Given the description of an element on the screen output the (x, y) to click on. 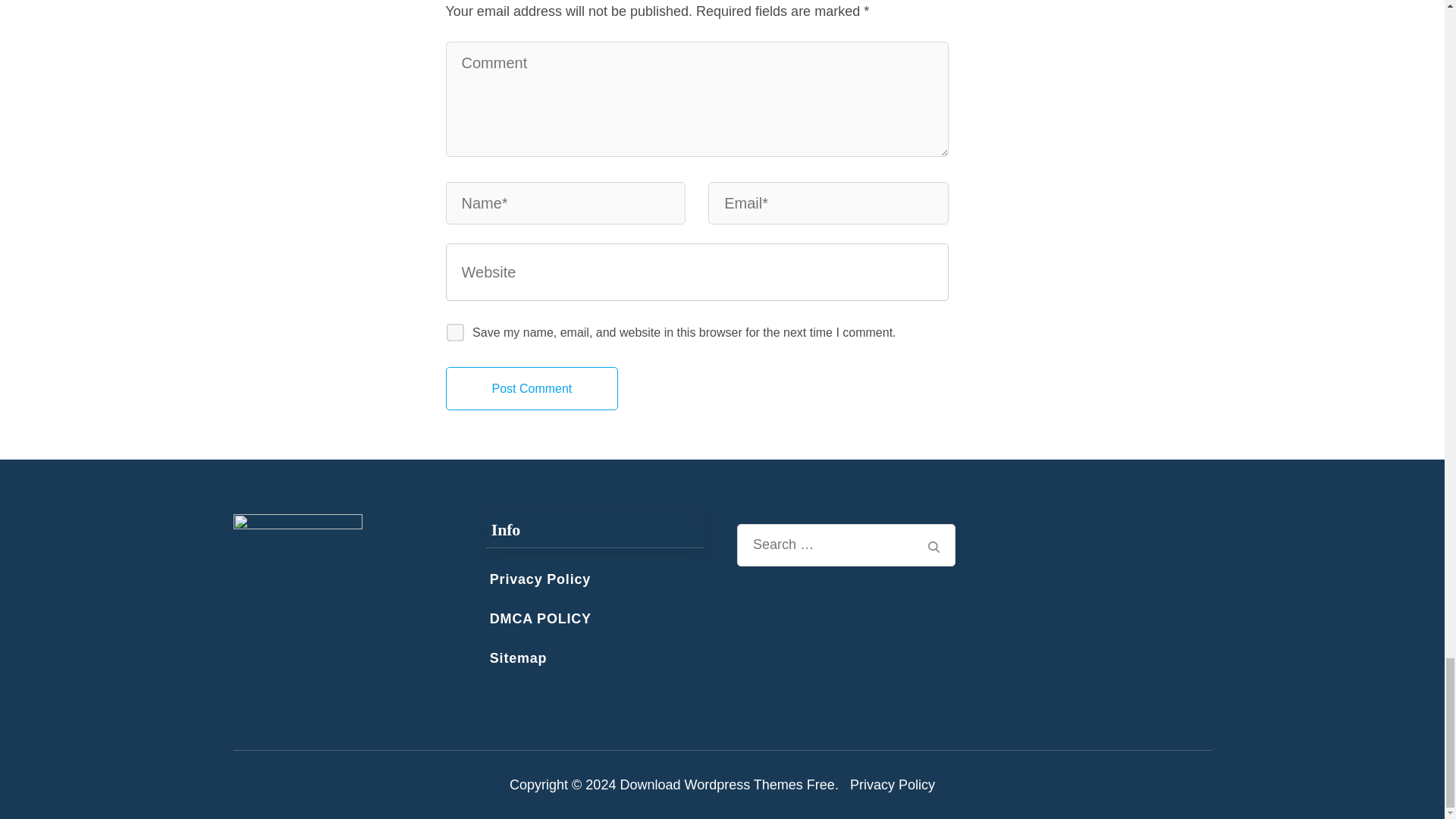
yes (450, 328)
Search (933, 546)
Post Comment (531, 388)
Search (933, 546)
